Given the description of an element on the screen output the (x, y) to click on. 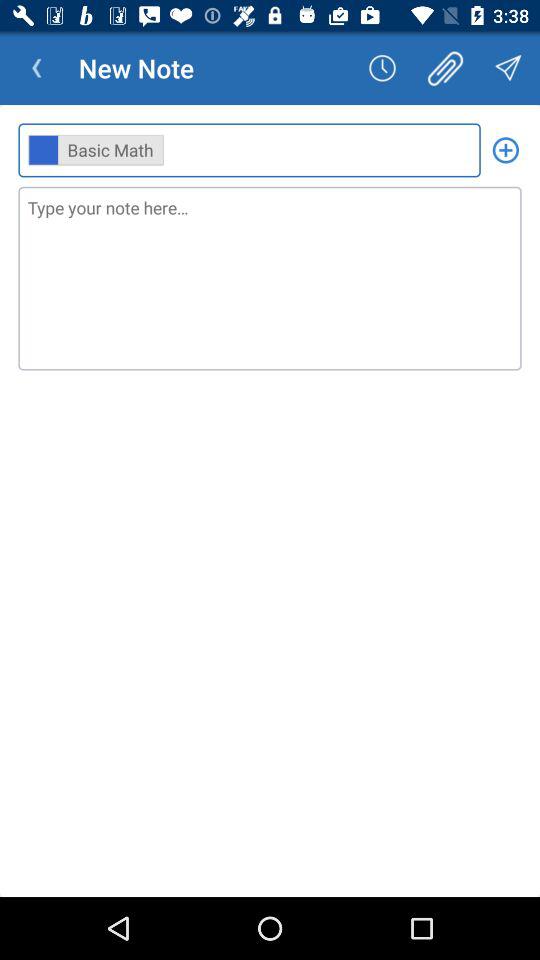
open the icon above the ,,  item (508, 67)
